Given the description of an element on the screen output the (x, y) to click on. 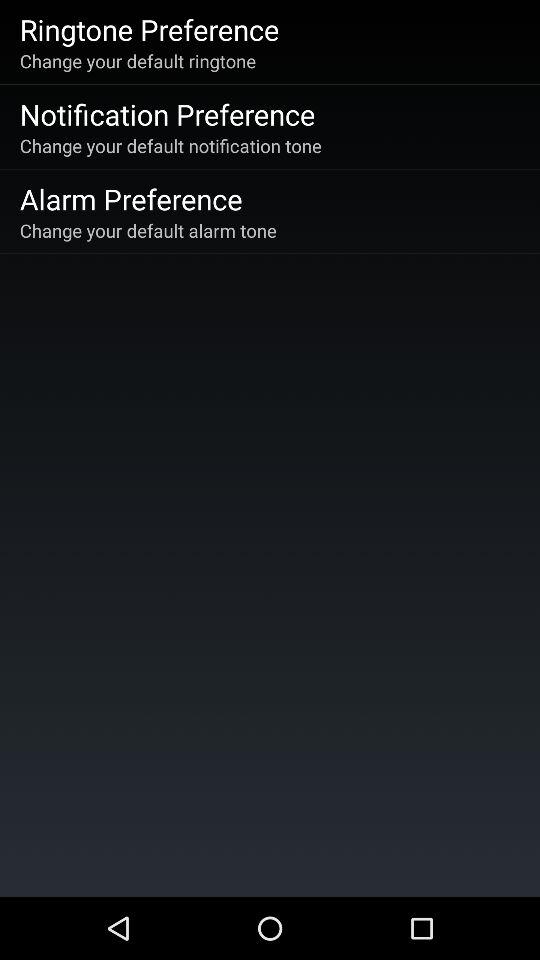
flip to ringtone preference item (149, 29)
